Given the description of an element on the screen output the (x, y) to click on. 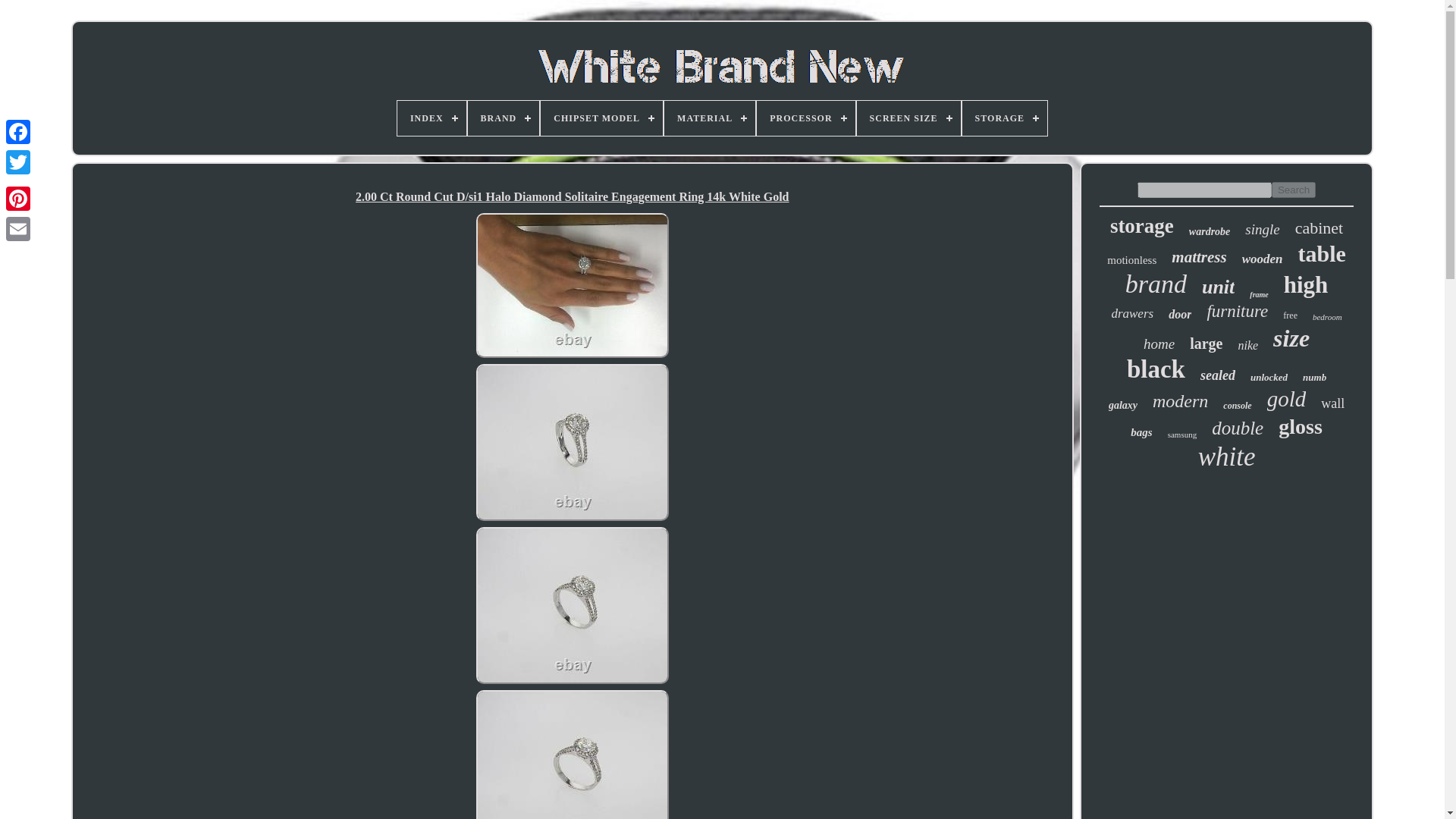
Pinterest (17, 198)
CHIPSET MODEL (601, 117)
Search (1293, 189)
BRAND (503, 117)
MATERIAL (709, 117)
INDEX (431, 117)
